Given the description of an element on the screen output the (x, y) to click on. 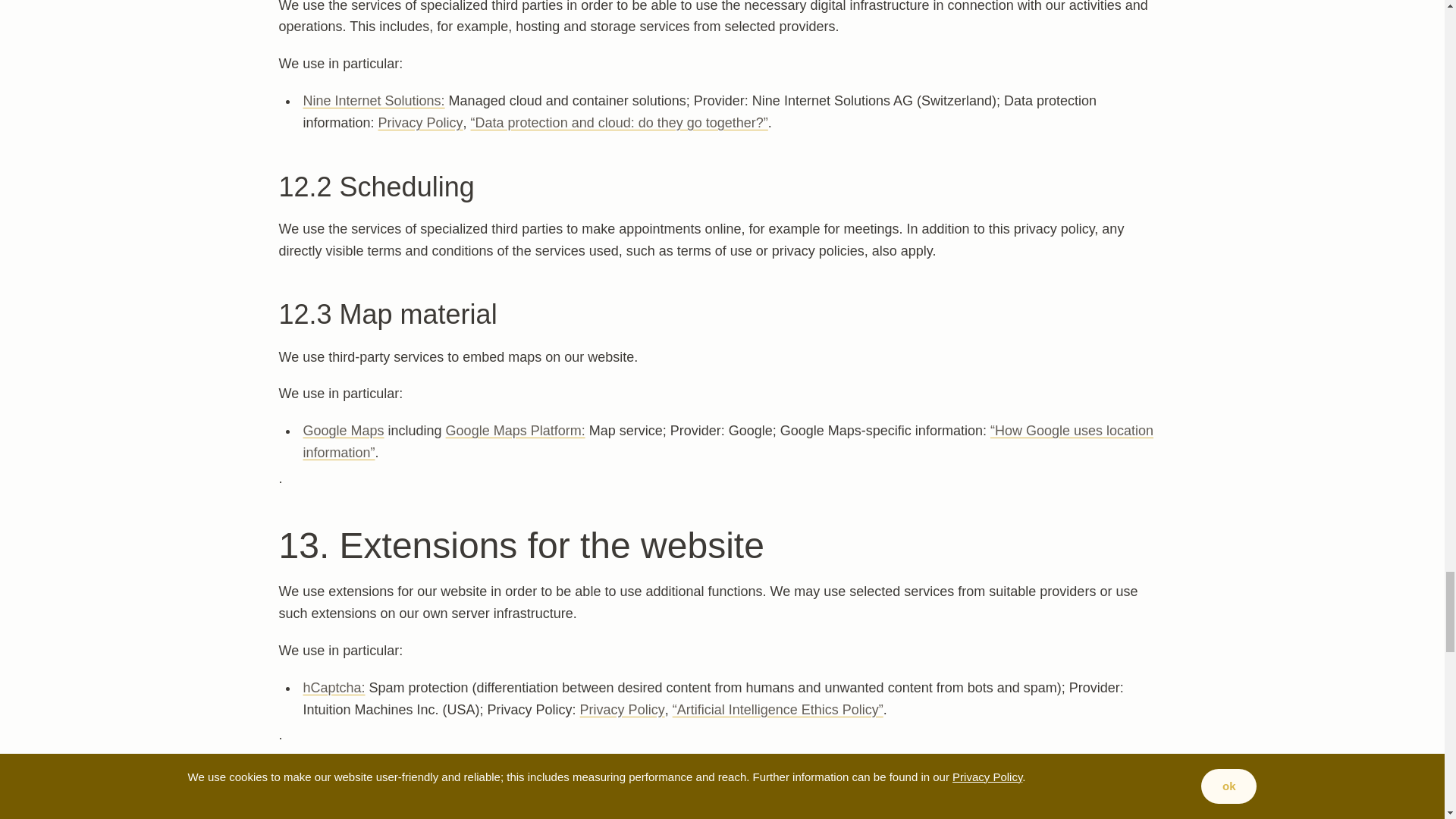
Privacy Policy (420, 122)
Google Maps Platform: (515, 430)
Google Maps (343, 430)
Nine Internet Solutions: (373, 100)
